Given the description of an element on the screen output the (x, y) to click on. 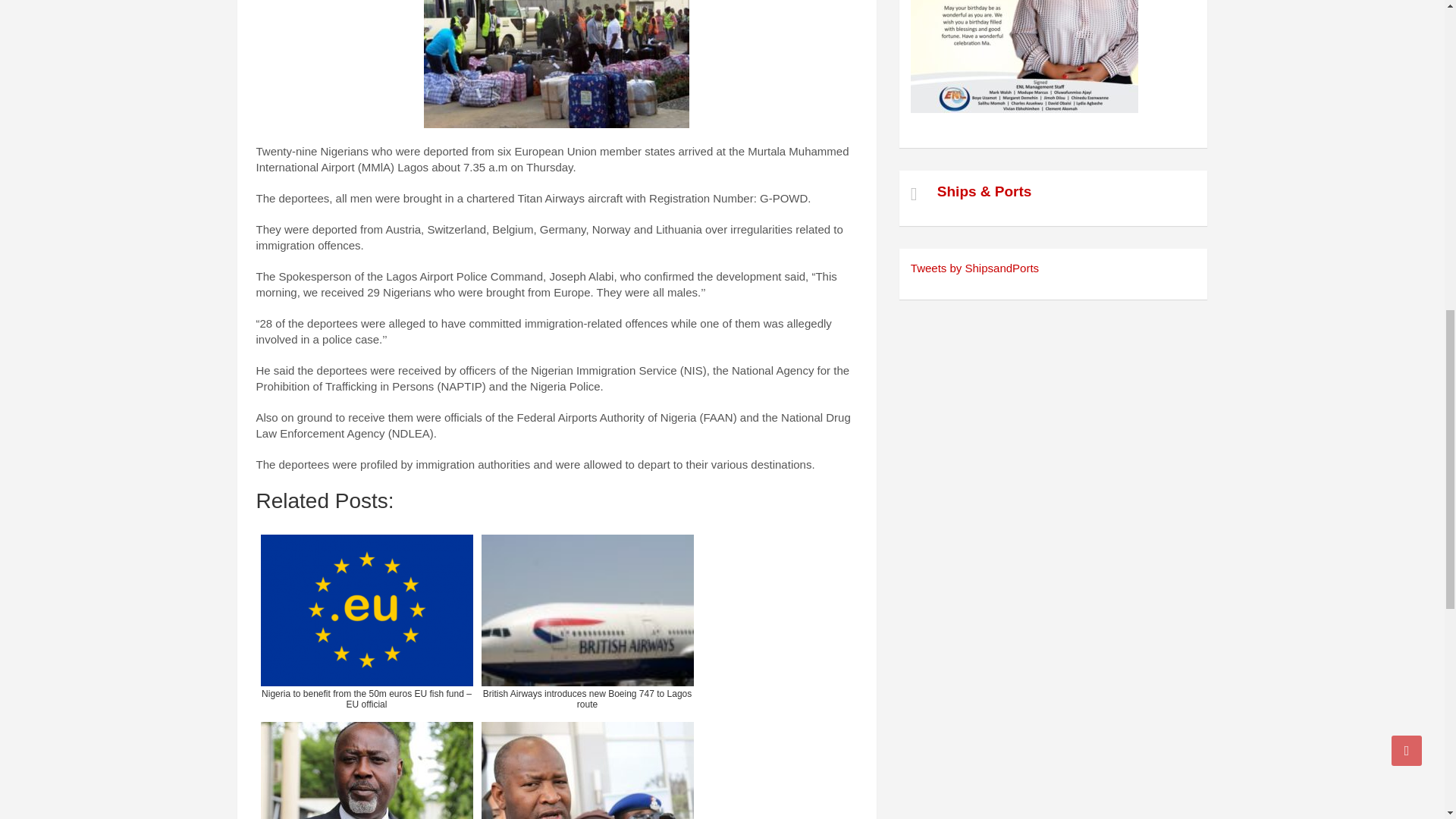
Minister directs NSIB to investigate Lagos train accident (586, 768)
NIWA commences wreck removal exercise in Lagos (366, 768)
British Airways introduces new Boeing 747 to Lagos route (586, 621)
